Given the description of an element on the screen output the (x, y) to click on. 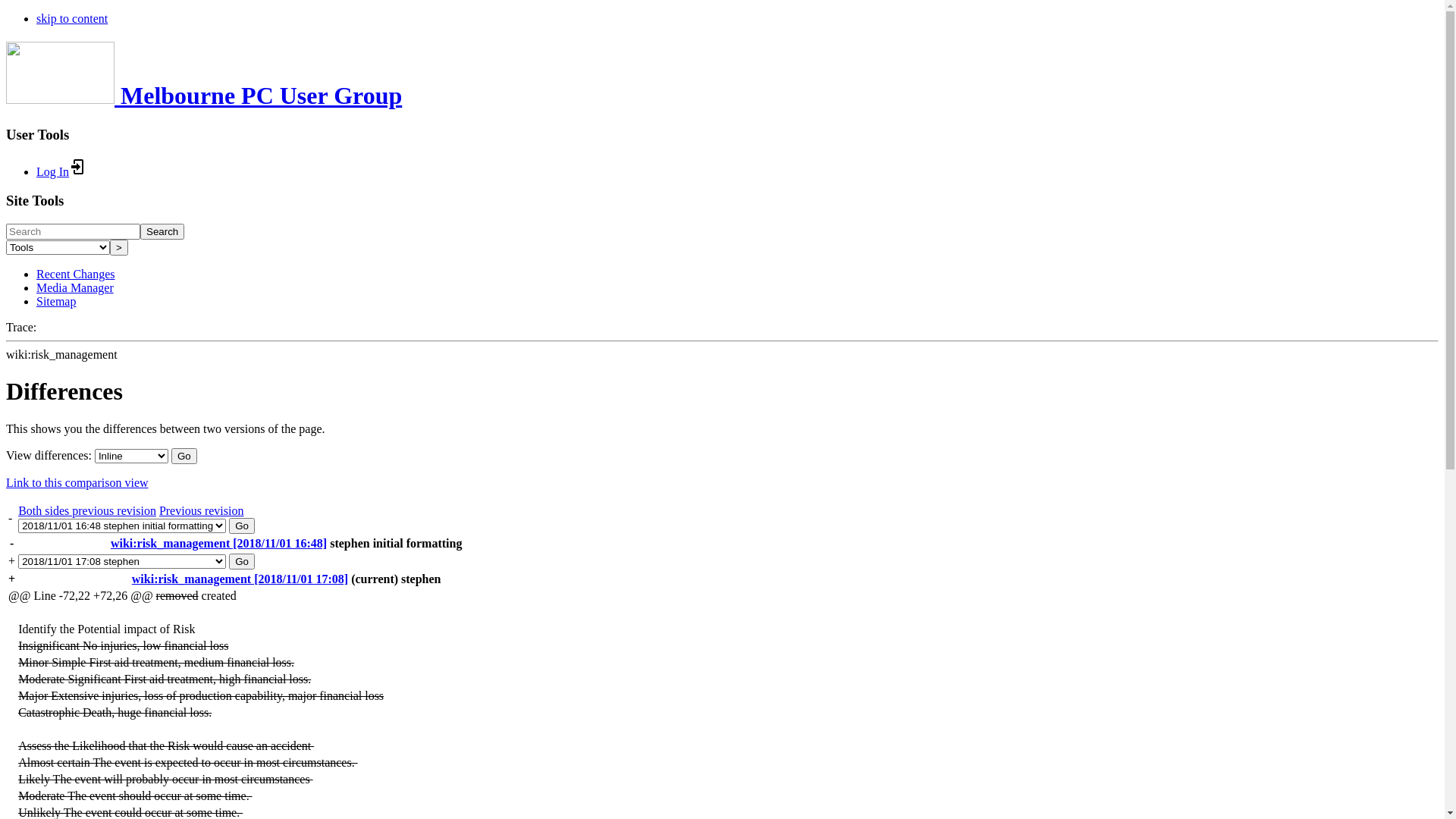
wiki:risk_management [2018/11/01 17:08] Element type: text (239, 578)
wiki:risk_management [2018/11/01 16:48] Element type: text (218, 542)
> Element type: text (118, 247)
Go Element type: text (184, 456)
Go Element type: text (241, 525)
Link to this comparison view Element type: text (77, 482)
Log In Element type: text (61, 171)
[F] Element type: hover (73, 231)
Search Element type: text (162, 231)
Previous revision Element type: text (201, 510)
Go Element type: text (241, 561)
skip to content Element type: text (71, 18)
Both sides previous revision Element type: text (87, 510)
Sitemap Element type: text (55, 300)
Recent Changes Element type: text (75, 273)
Melbourne PC User Group Element type: text (203, 95)
Media Manager Element type: text (74, 287)
